Given the description of an element on the screen output the (x, y) to click on. 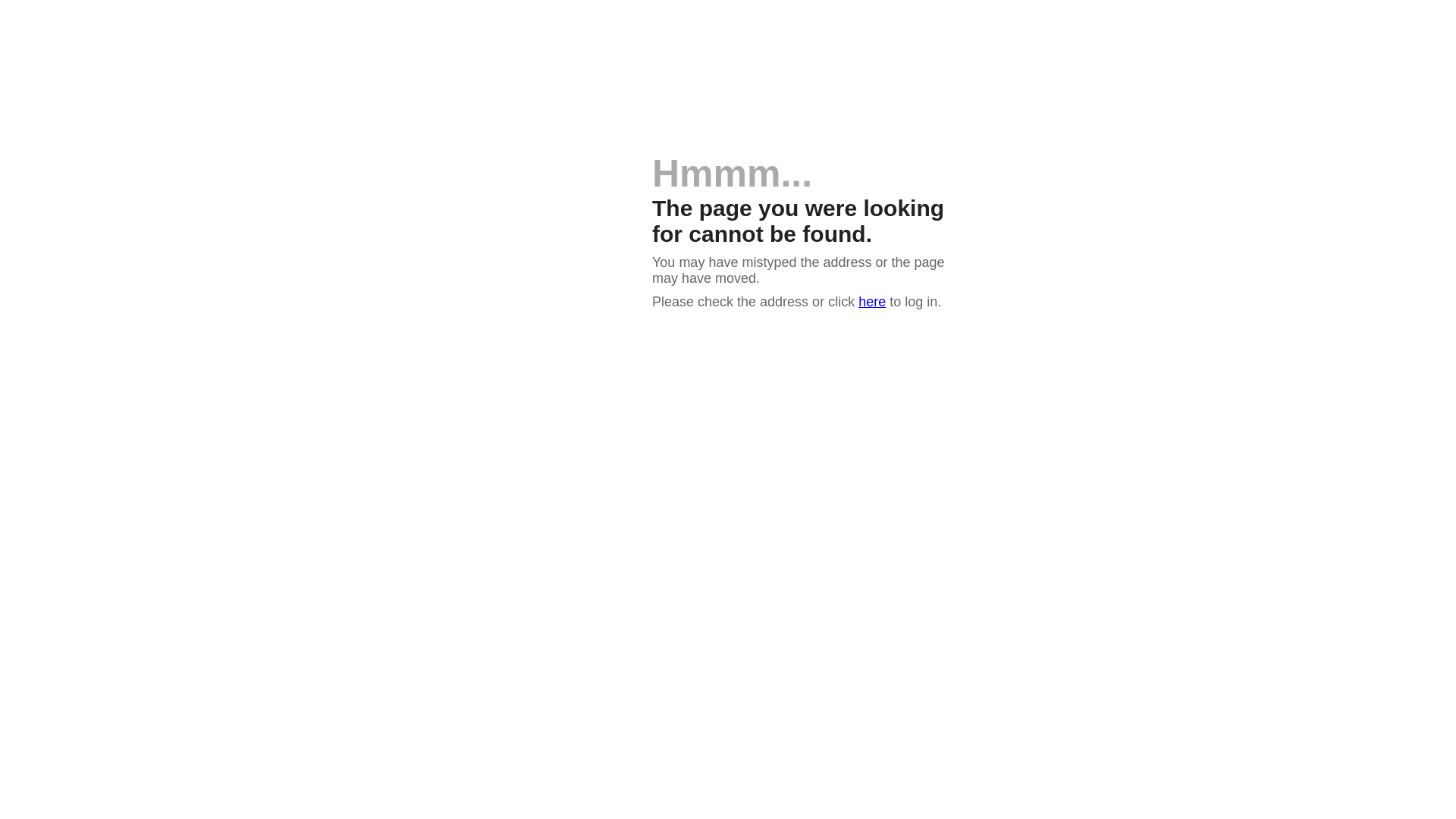
here Element type: text (871, 301)
